Given the description of an element on the screen output the (x, y) to click on. 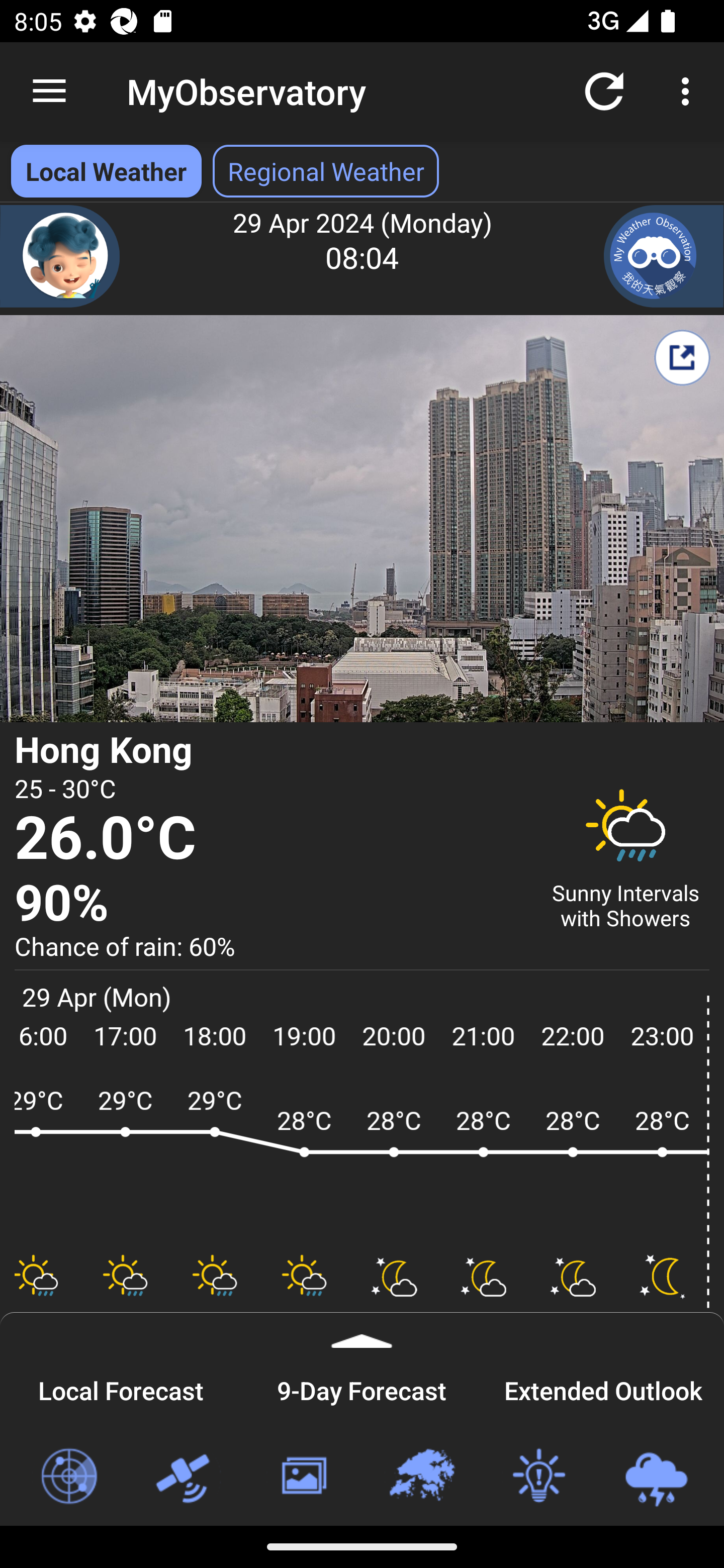
Navigate up (49, 91)
Refresh (604, 90)
More options (688, 90)
Local Weather Local Weather selected (105, 170)
Regional Weather Select Regional Weather (325, 170)
Chatbot (60, 256)
My Weather Observation (663, 256)
Share My Weather Report (681, 357)
26.0°C Temperature
26.0 degree Celsius (270, 839)
90% Relative Humidity
90 percent (270, 903)
ARWF (361, 1160)
Expand (362, 1330)
Local Forecast (120, 1387)
Extended Outlook (603, 1387)
Radar Images (68, 1476)
Satellite Images (185, 1476)
Weather Photos (302, 1476)
Regional Weather (420, 1476)
Weather Tips (537, 1476)
Loc-based Rain & Lightning Forecast (655, 1476)
